Given the description of an element on the screen output the (x, y) to click on. 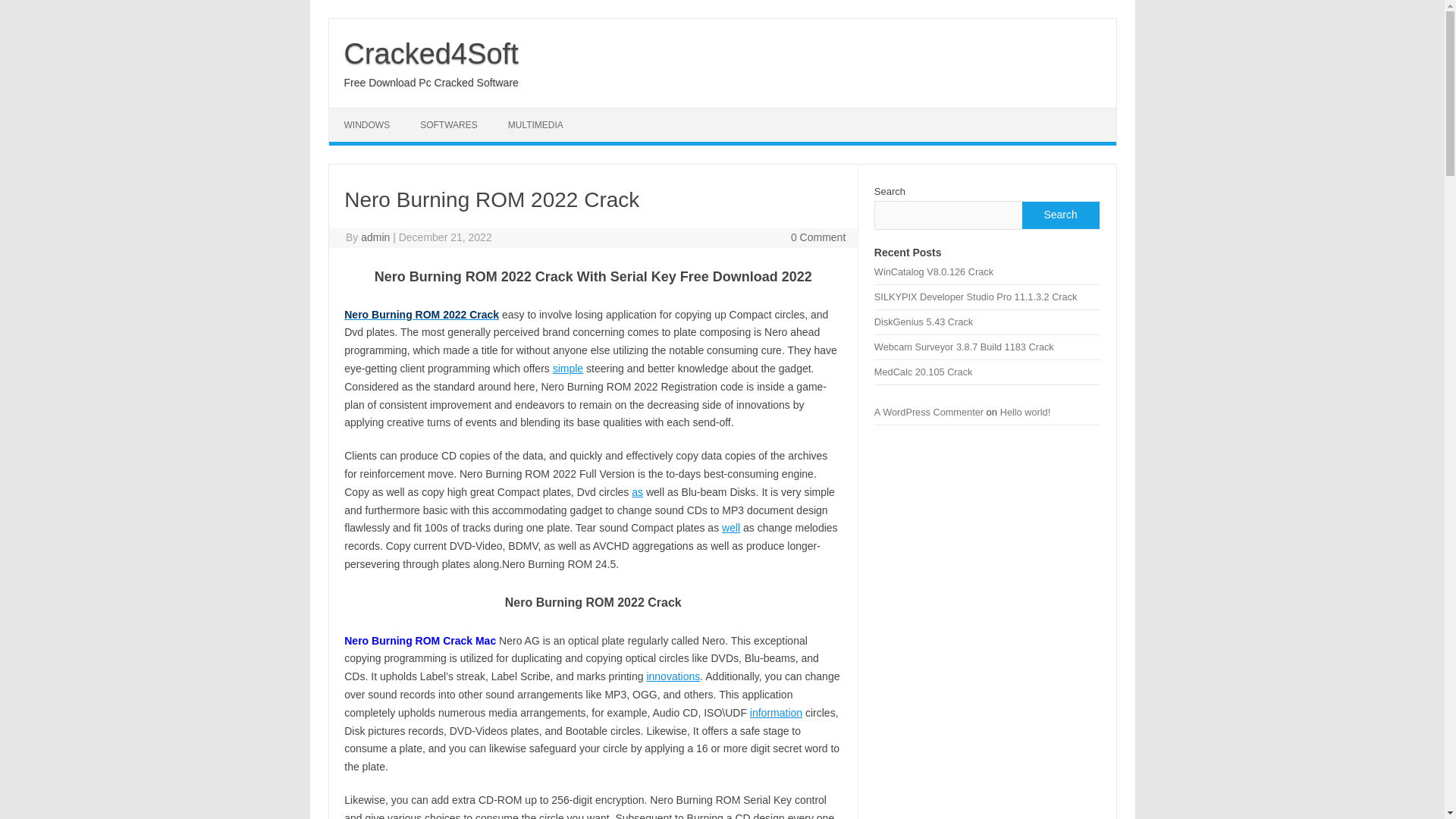
Cracked4Soft (430, 53)
well (730, 527)
simple (568, 368)
admin (375, 236)
innovations (673, 676)
Cracked4Soft (430, 53)
Nero Burning ROM 2022 Crack (421, 314)
as (637, 491)
